Given the description of an element on the screen output the (x, y) to click on. 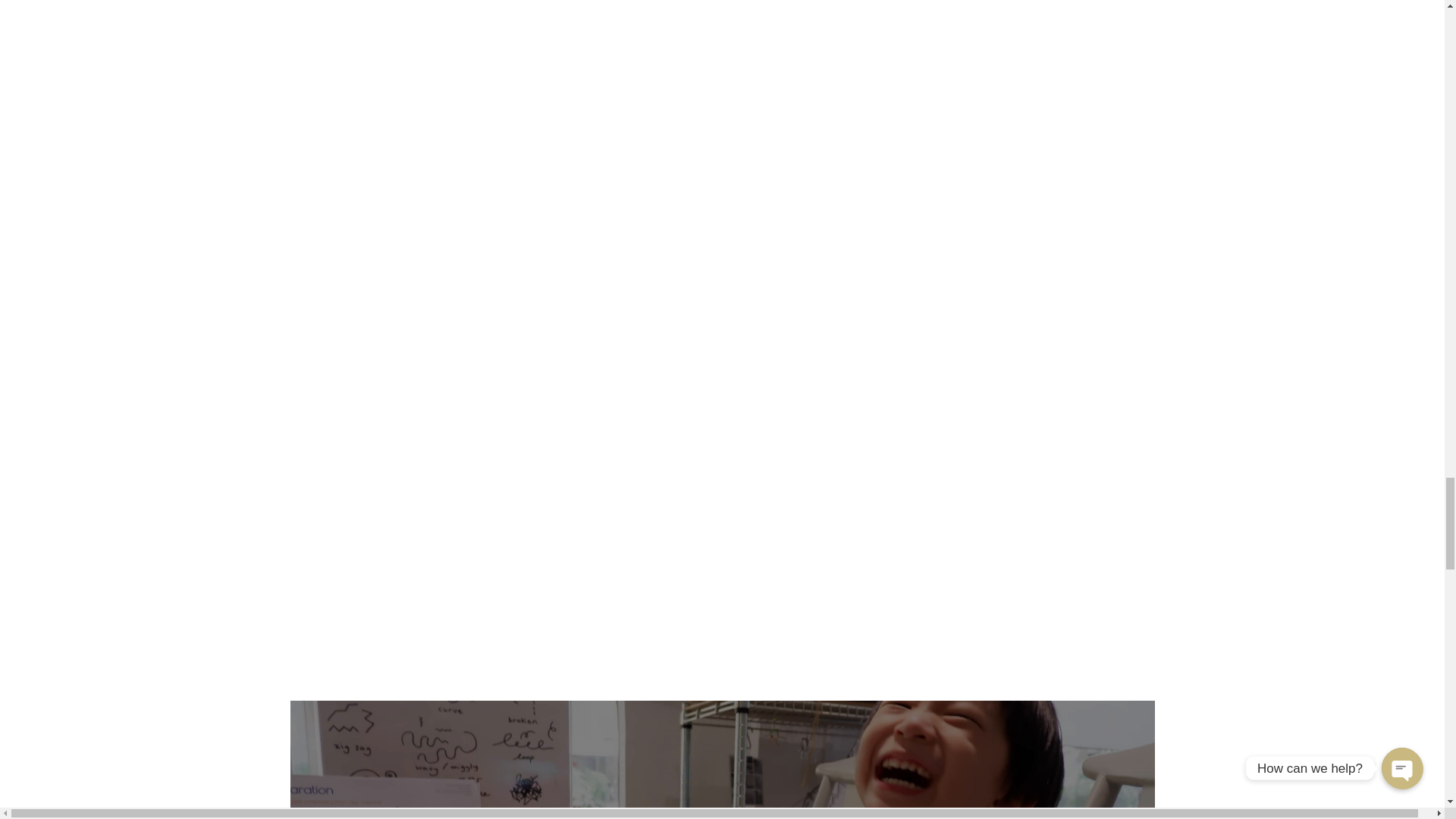
spark wonder, discovery, and joy (721, 760)
